Given the description of an element on the screen output the (x, y) to click on. 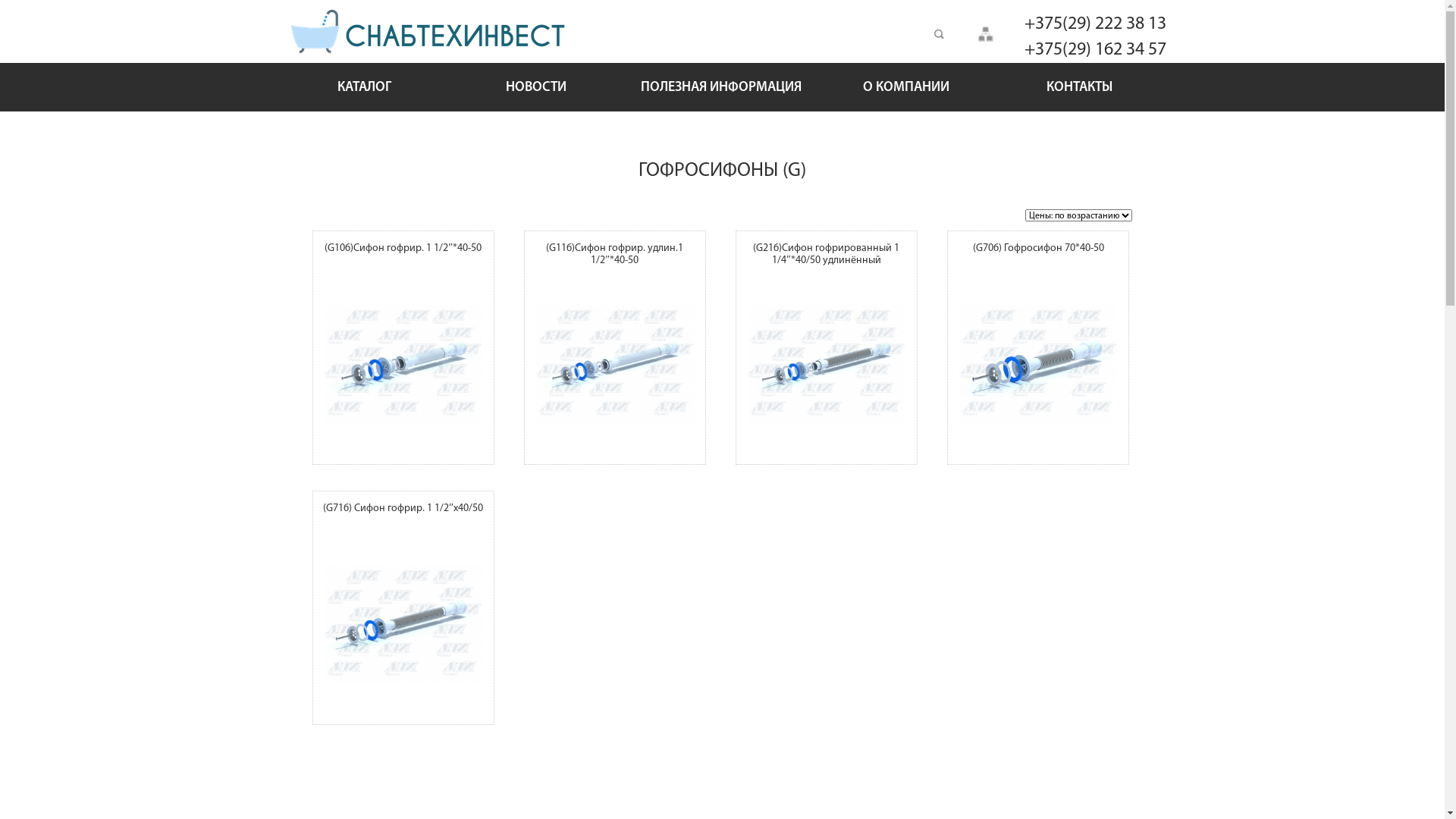
g0106r-1024x768-catalog_product-razobrbimg-153 Element type: hover (402, 364)
g0716r-1024x768-catalog_product-razobrbimg-164 Element type: hover (402, 624)
g0216r-1024x768-catalog_product-razobrbimg-162 Element type: hover (826, 364)
g0706r-1024x768-catalog_product-razobrbimg-163 Element type: hover (1037, 364)
g0116r-1024x768-catalog_product-razobrbimg-156 Element type: hover (614, 364)
